Given the description of an element on the screen output the (x, y) to click on. 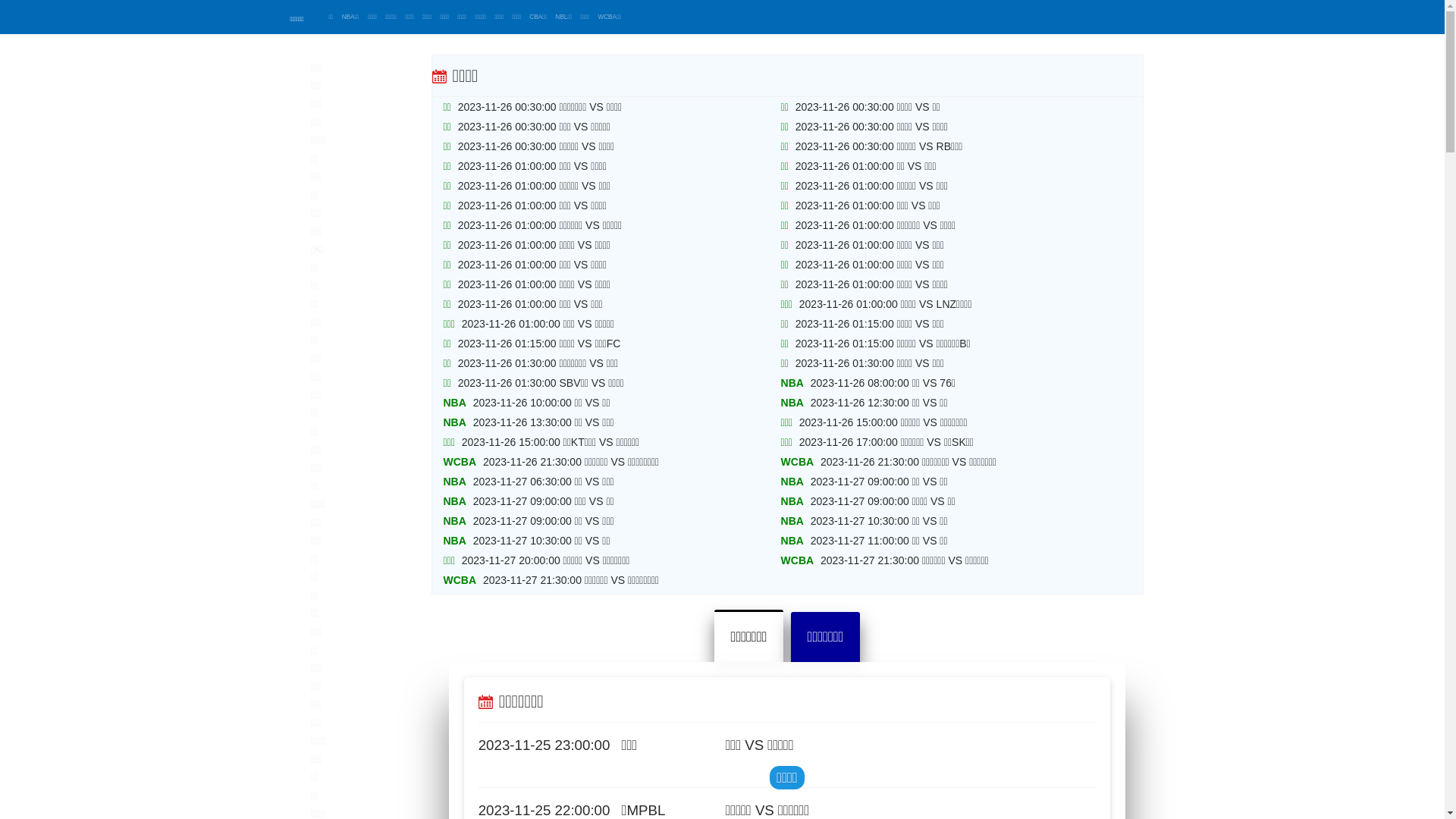
NBA Element type: text (453, 402)
NBA Element type: text (453, 540)
WCBA Element type: text (459, 461)
NBA Element type: text (453, 520)
NBA Element type: text (453, 501)
NBA Element type: text (792, 382)
NBA Element type: text (453, 422)
NBA Element type: text (792, 501)
NBA Element type: text (792, 520)
NBA Element type: text (792, 540)
WCBA Element type: text (459, 580)
WCBA Element type: text (797, 560)
NBA Element type: text (792, 402)
WCBA Element type: text (797, 461)
NBA Element type: text (792, 481)
NBA Element type: text (453, 481)
